Given the description of an element on the screen output the (x, y) to click on. 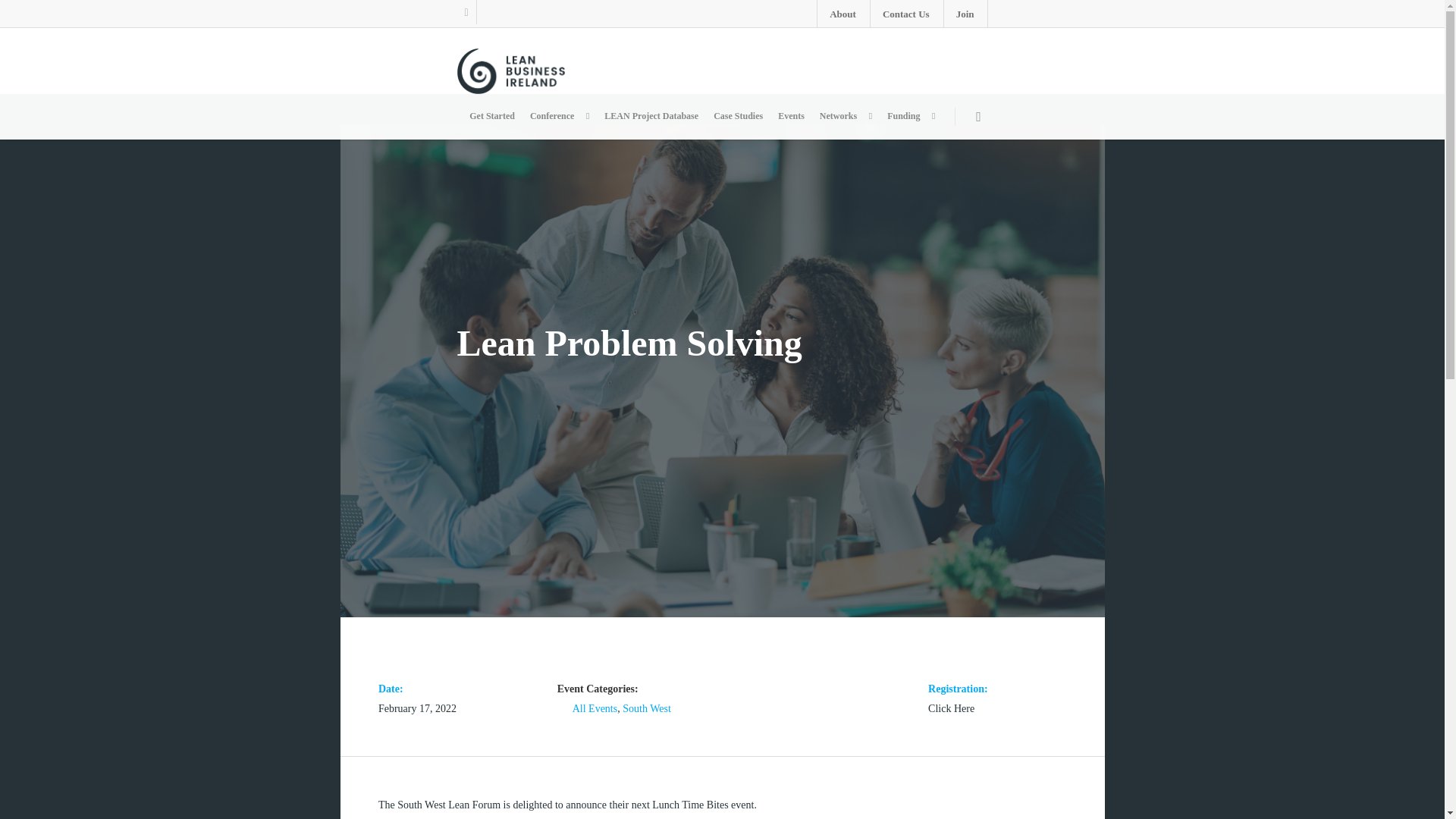
Funding (910, 116)
Case Studies (737, 116)
Conference (559, 116)
About (841, 13)
Join (965, 13)
Click Here (951, 708)
2022-02-17 (417, 708)
Networks (845, 116)
All Events (594, 708)
LEAN Project Database (651, 116)
Contact Us (905, 13)
South West (647, 708)
Get Started (491, 116)
